Given the description of an element on the screen output the (x, y) to click on. 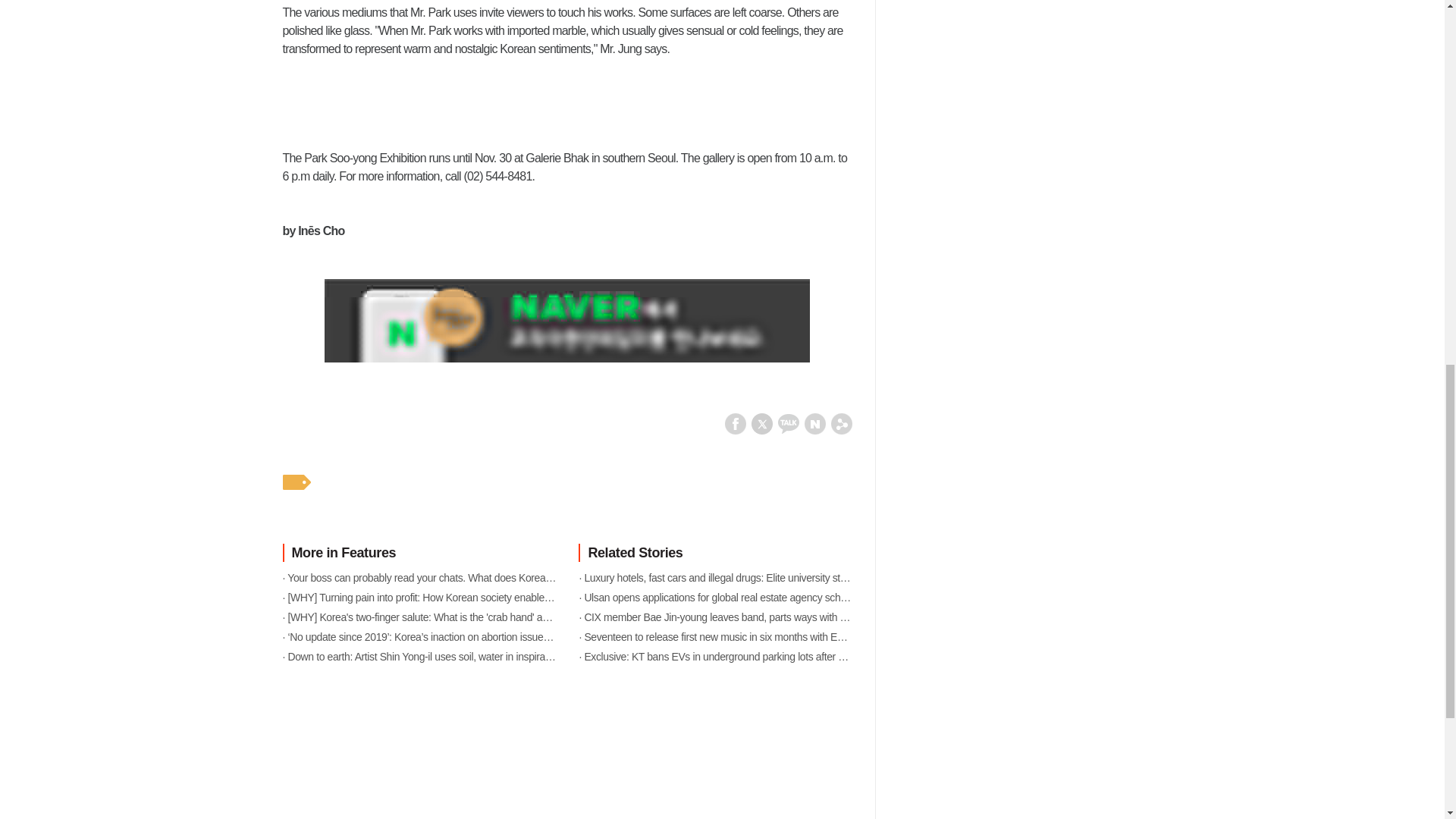
CIX member Bae Jin-young leaves band, parts ways with agency (714, 617)
Share to Facebook New Window (735, 422)
Copy URL To Clipboard (841, 422)
Share to Twitter New Window (762, 422)
Share to KakaoTalk New Window (788, 422)
